Given the description of an element on the screen output the (x, y) to click on. 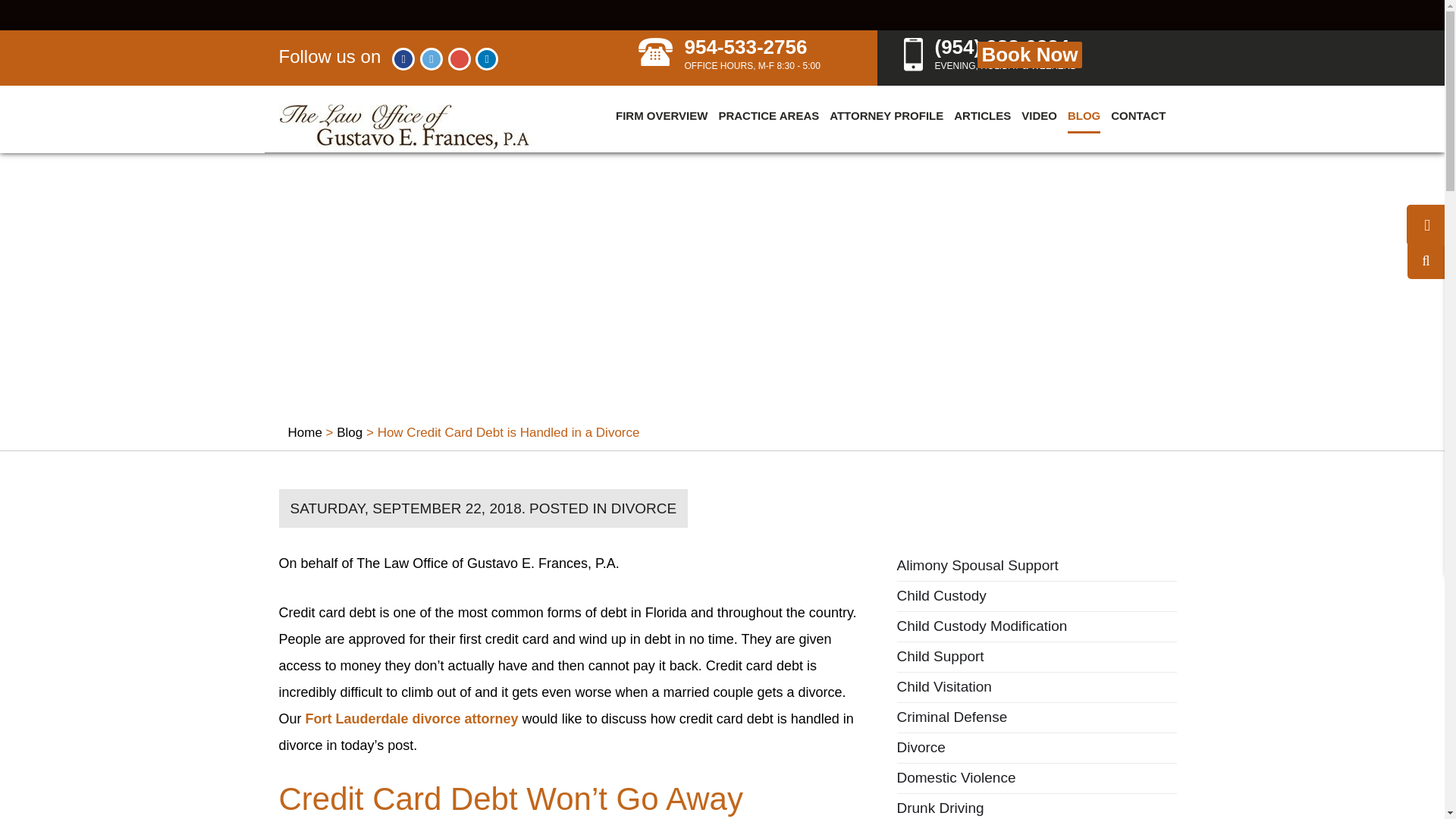
Book Now (1028, 54)
PRACTICE AREAS (767, 118)
Google Business (459, 58)
The Law Office of Gustavo E. Frances, P.A (405, 128)
954-533-2756 (734, 56)
Book Now (1072, 54)
facebook (402, 58)
Book an Appointment (1028, 54)
954-297-6546 (1000, 56)
FIRM OVERVIEW (661, 118)
Firm Overview (661, 120)
linkedin (486, 58)
Practice Areas (767, 120)
phone (655, 51)
phone (913, 54)
